Given the description of an element on the screen output the (x, y) to click on. 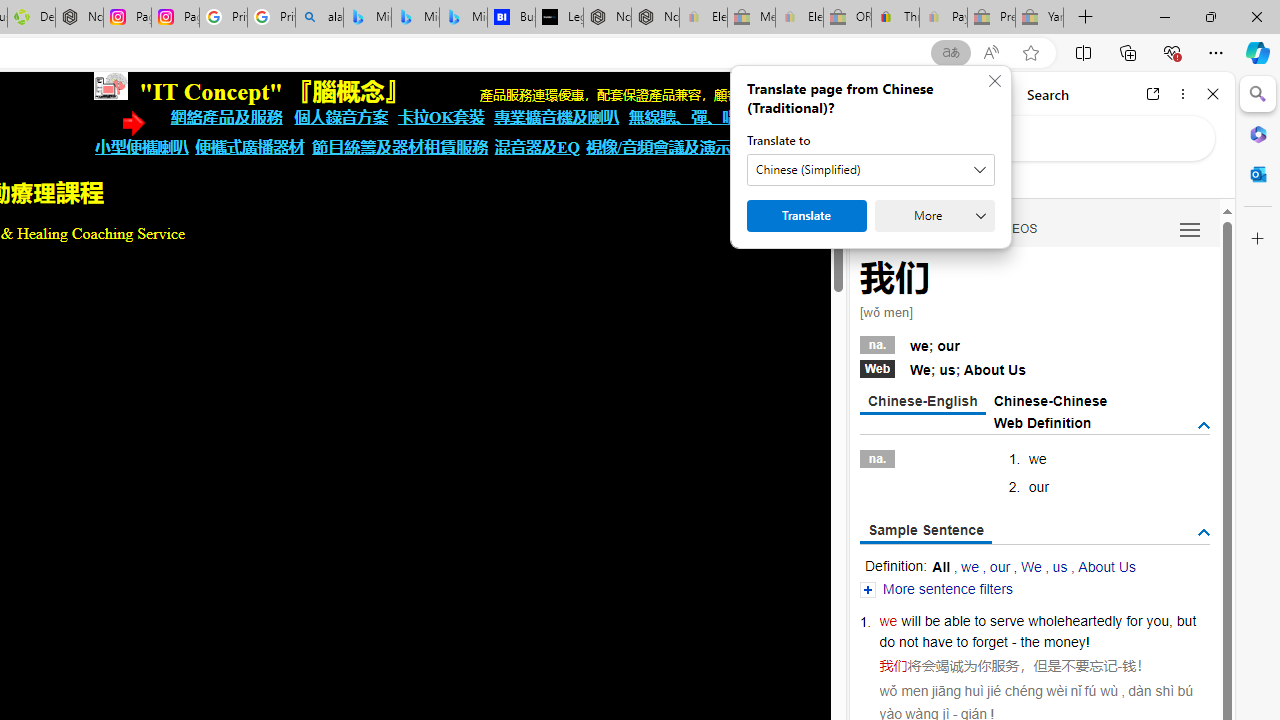
money (1064, 642)
New Tab (1085, 17)
Microsoft Bing Travel - Shangri-La Hotel Bangkok (463, 17)
WEB (884, 228)
AutomationID: tgdef_sen (1203, 533)
We (1030, 566)
, (1170, 620)
Threats and offensive language policy | eBay (895, 17)
This site scope (936, 180)
